Given the description of an element on the screen output the (x, y) to click on. 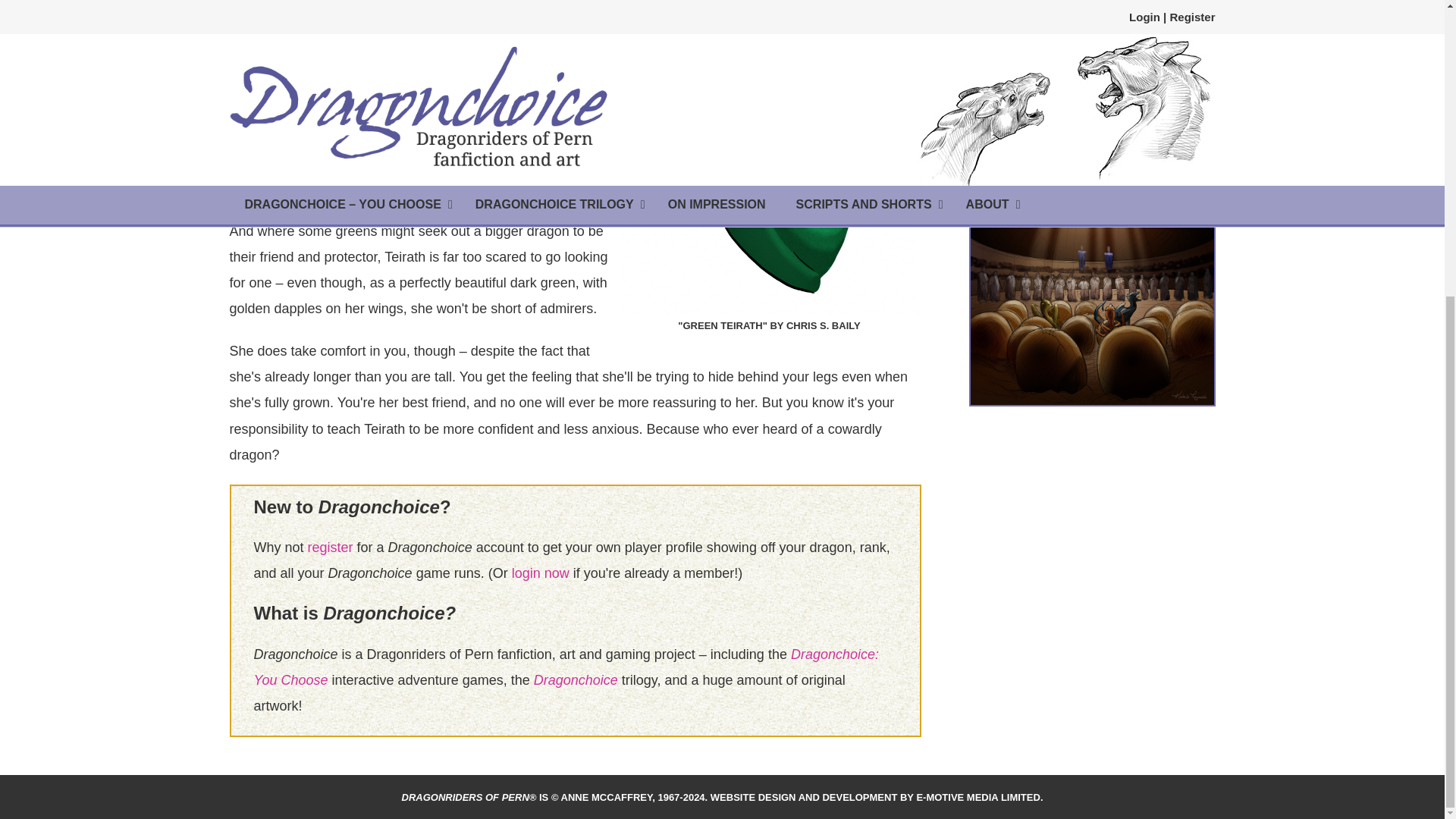
Go to the e-Motive Media Limited website (875, 797)
here (1120, 63)
Dragonchoice (575, 679)
register (330, 547)
WEBSITE DESIGN AND DEVELOPMENT BY E-MOTIVE MEDIA LIMITED (875, 797)
Dragonchoice: You Choose (566, 667)
login now (540, 572)
